Given the description of an element on the screen output the (x, y) to click on. 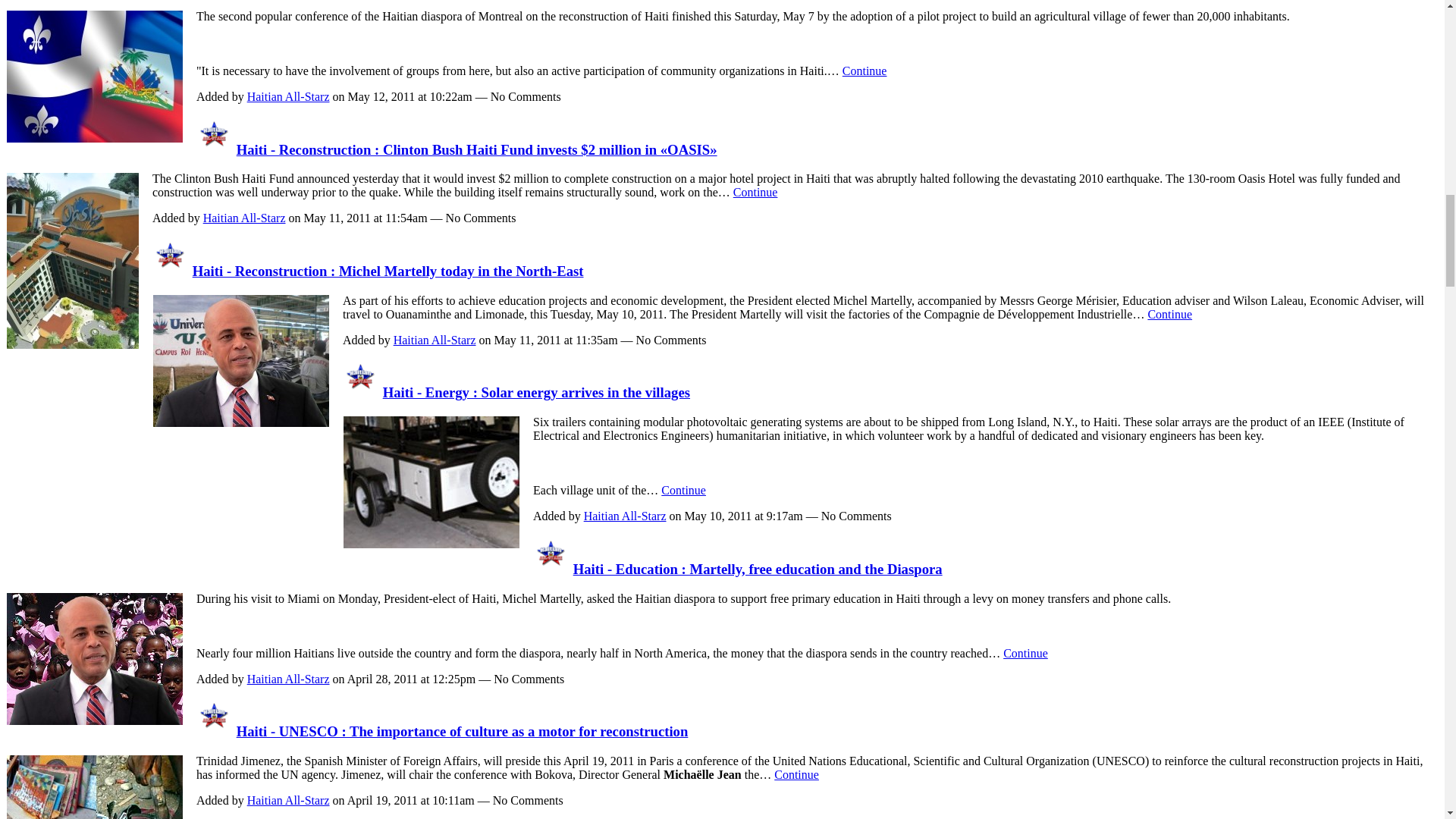
Haitian All-Starz (550, 569)
Haitian All-Starz (170, 270)
Haitian All-Starz (214, 149)
Haitian All-Starz (360, 392)
Haitian All-Starz (214, 731)
